Given the description of an element on the screen output the (x, y) to click on. 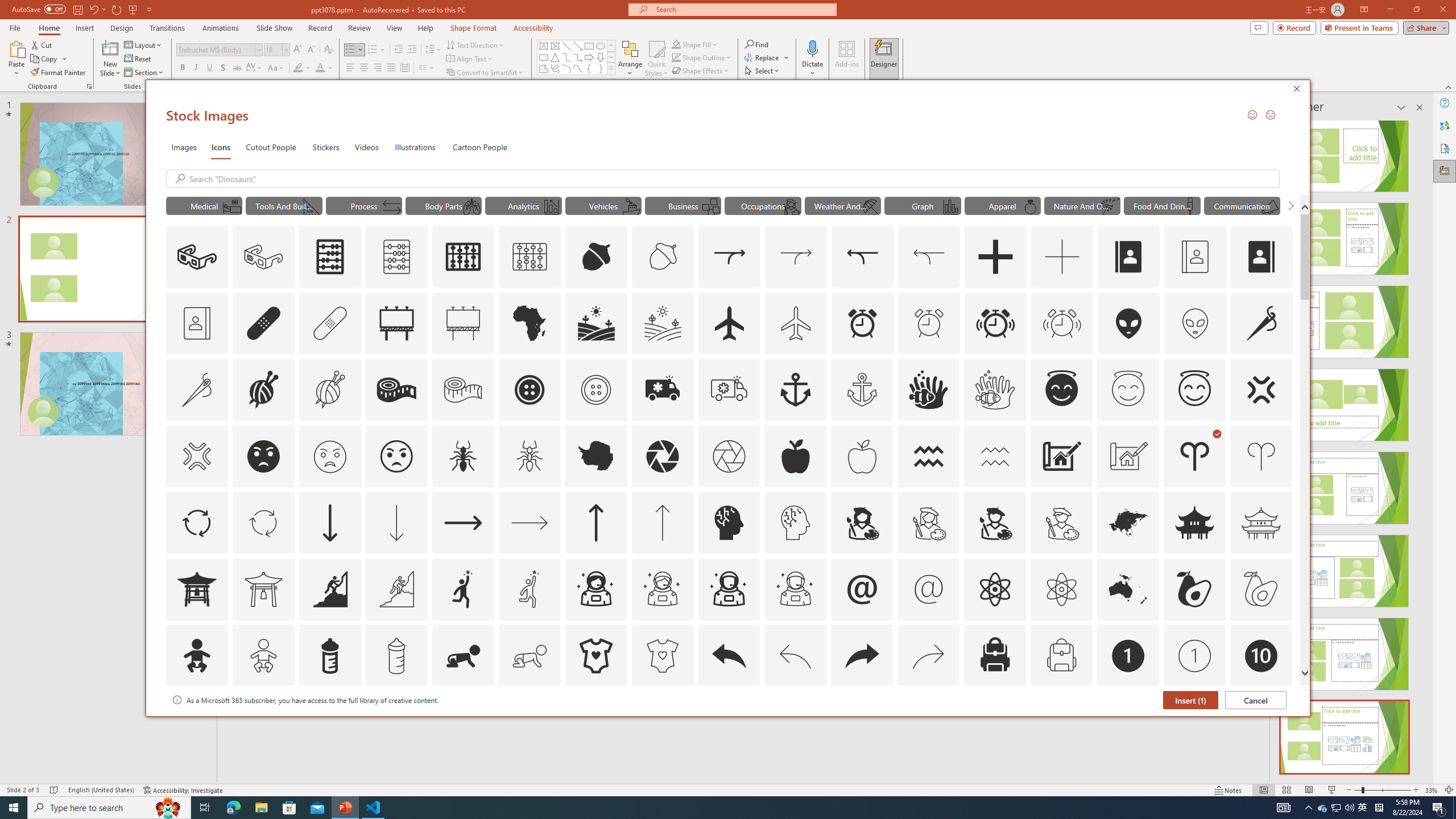
AutomationID: Icons_Backpack (995, 655)
AutomationID: Icons_Atom (995, 588)
"Communication" Icons. (1241, 205)
AutomationID: Icons_AsianTemple (1194, 522)
AutomationID: Icons_Advertising_M (462, 323)
